Given the description of an element on the screen output the (x, y) to click on. 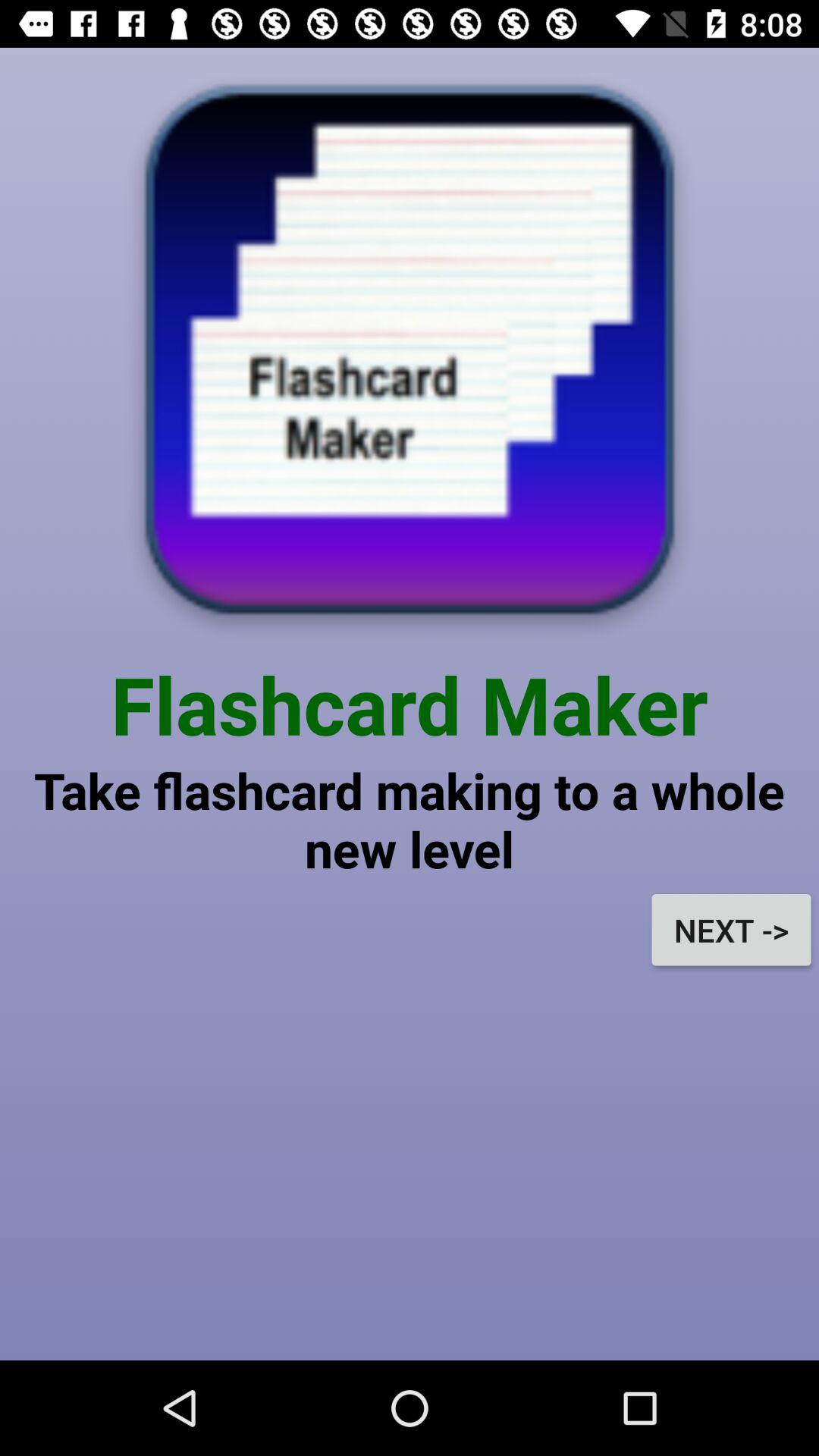
click next -> on the right (731, 929)
